Given the description of an element on the screen output the (x, y) to click on. 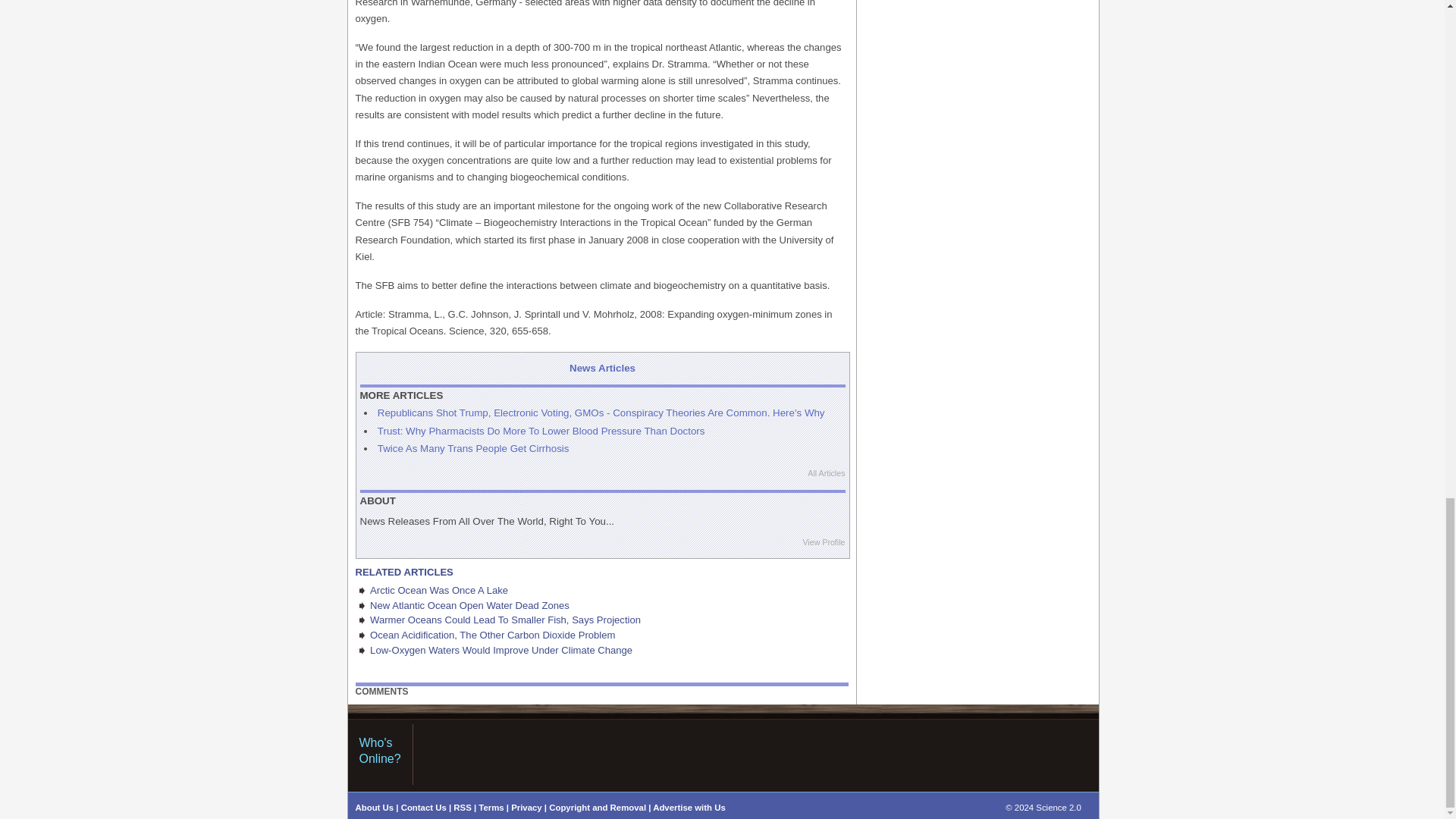
Our Terms of Use. (491, 807)
Your Rights to Privacy. (526, 807)
Copyright Terms. (597, 807)
